Given the description of an element on the screen output the (x, y) to click on. 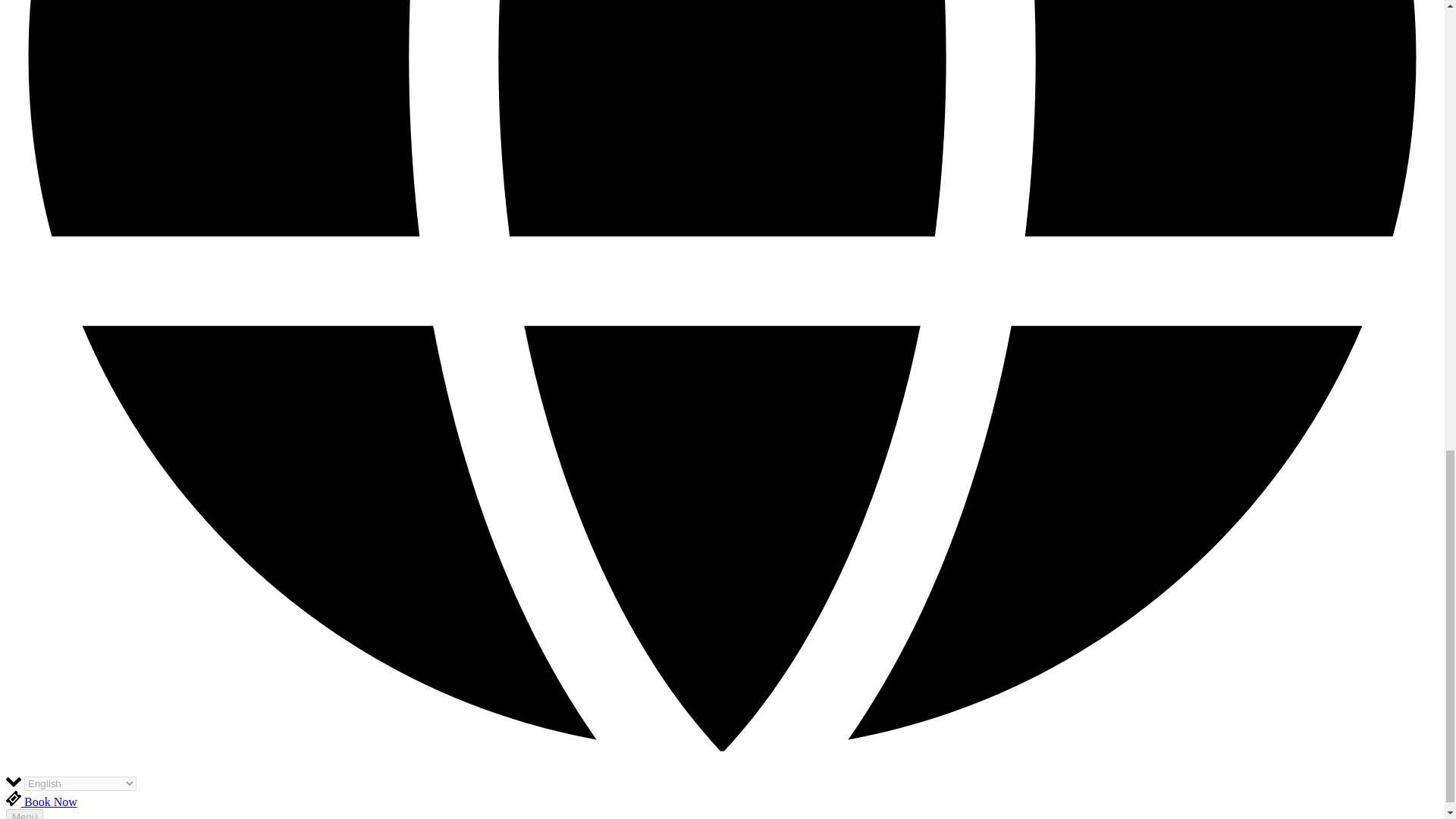
Ticket Book Now (41, 801)
Ticket (13, 798)
Chevron down (13, 782)
Click here to book a Spinach Tour (41, 801)
